Given the description of an element on the screen output the (x, y) to click on. 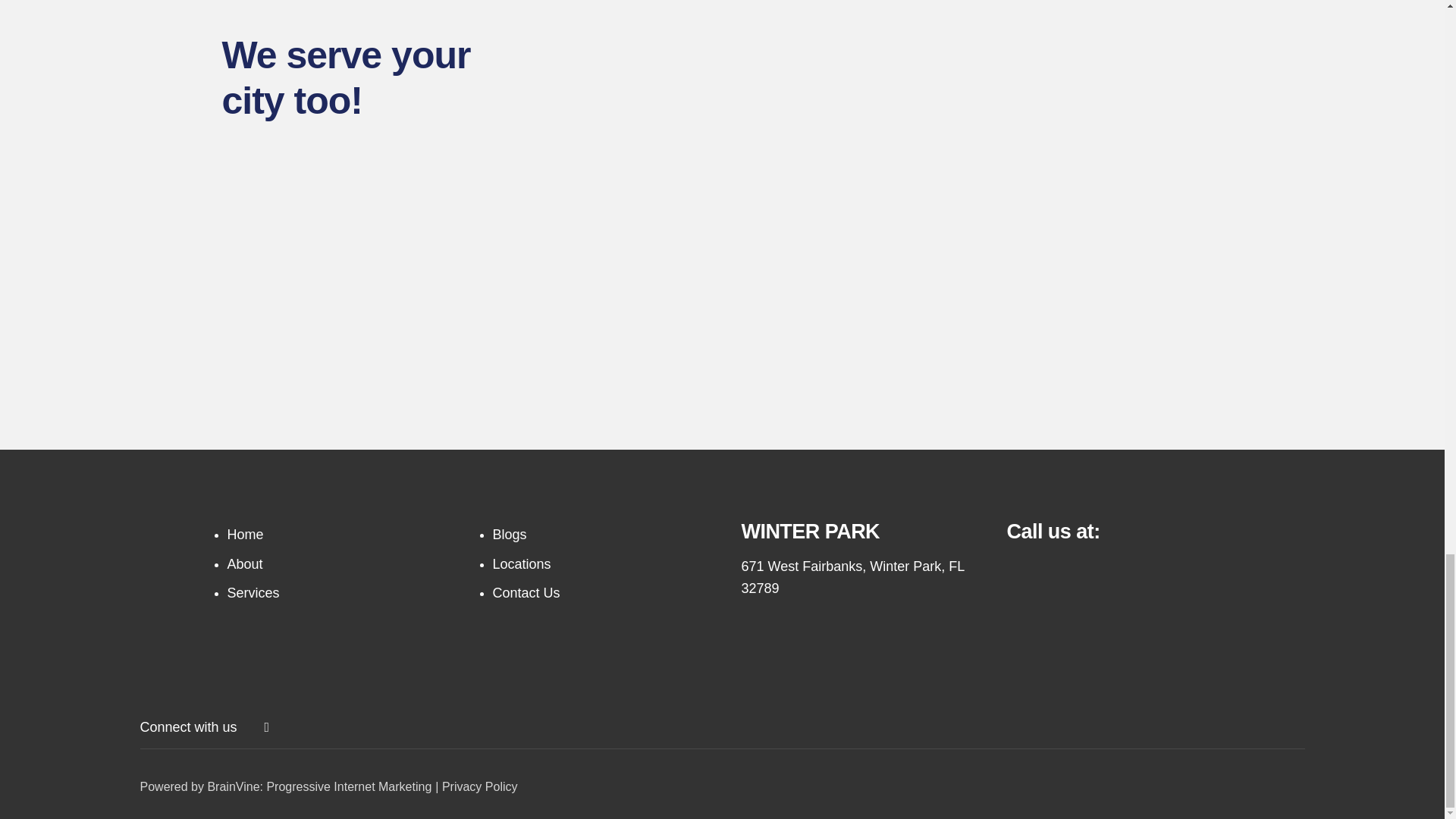
Powered by BrainVine: Progressive Internet Marketing (284, 786)
Locations (522, 563)
Services (253, 592)
About (245, 563)
Home (245, 534)
Privacy Policy (480, 786)
Blogs (510, 534)
Contact Us (526, 592)
